Given the description of an element on the screen output the (x, y) to click on. 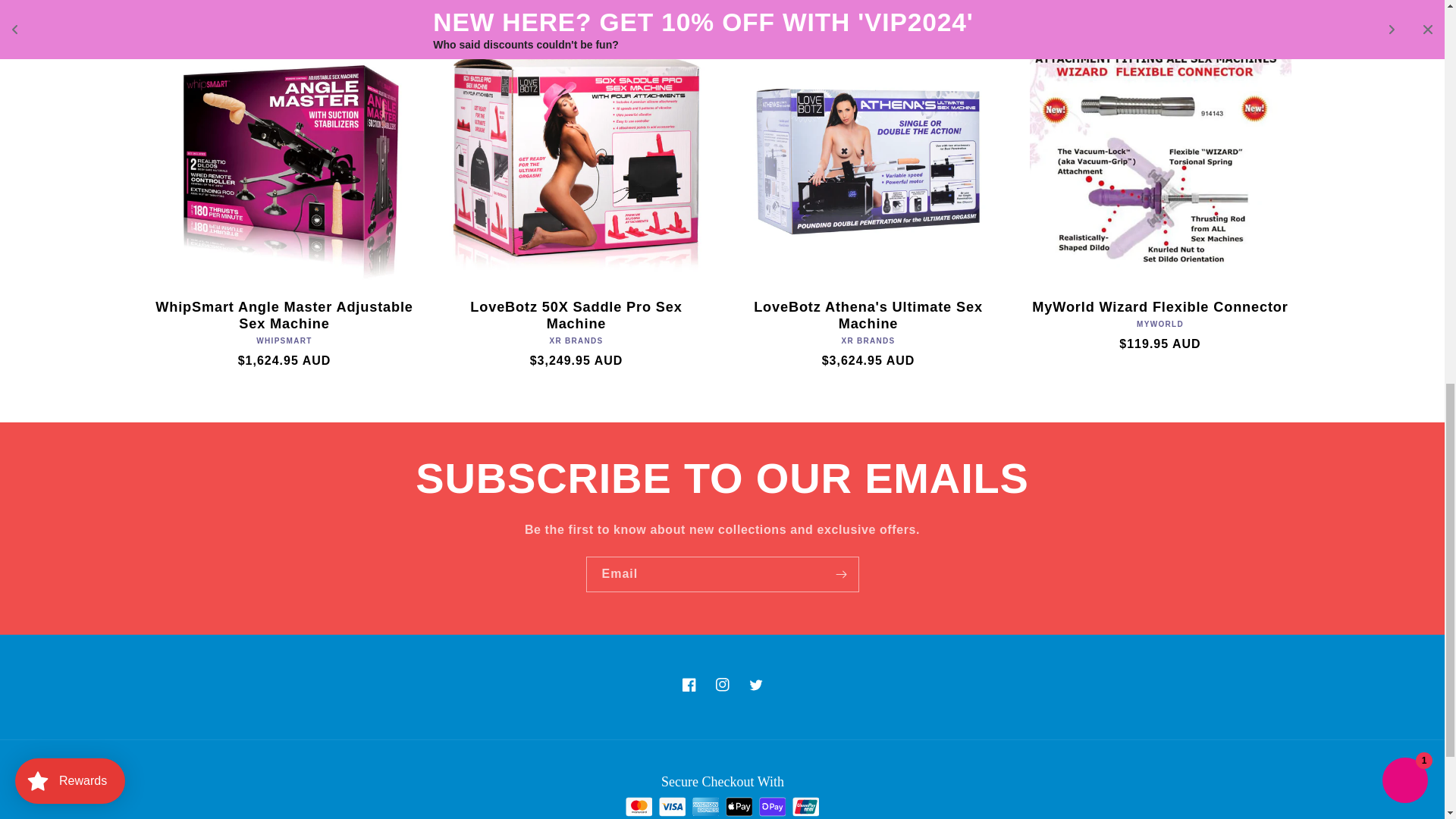
trust-badges-widget (721, 794)
